Given the description of an element on the screen output the (x, y) to click on. 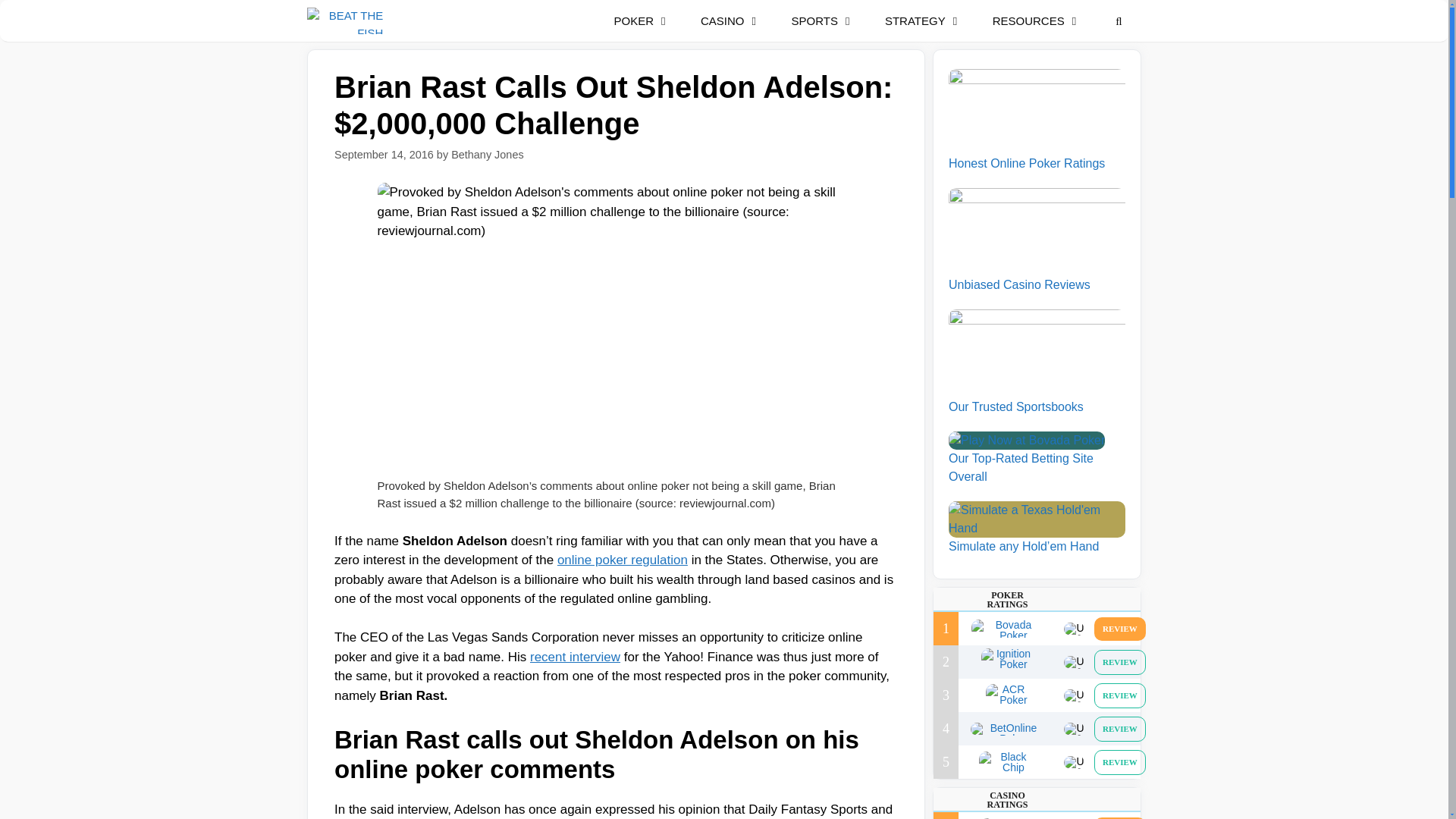
View all posts by Bethany Jones (487, 154)
Beat The Fish (348, 20)
Beat The Fish (344, 20)
